Given the description of an element on the screen output the (x, y) to click on. 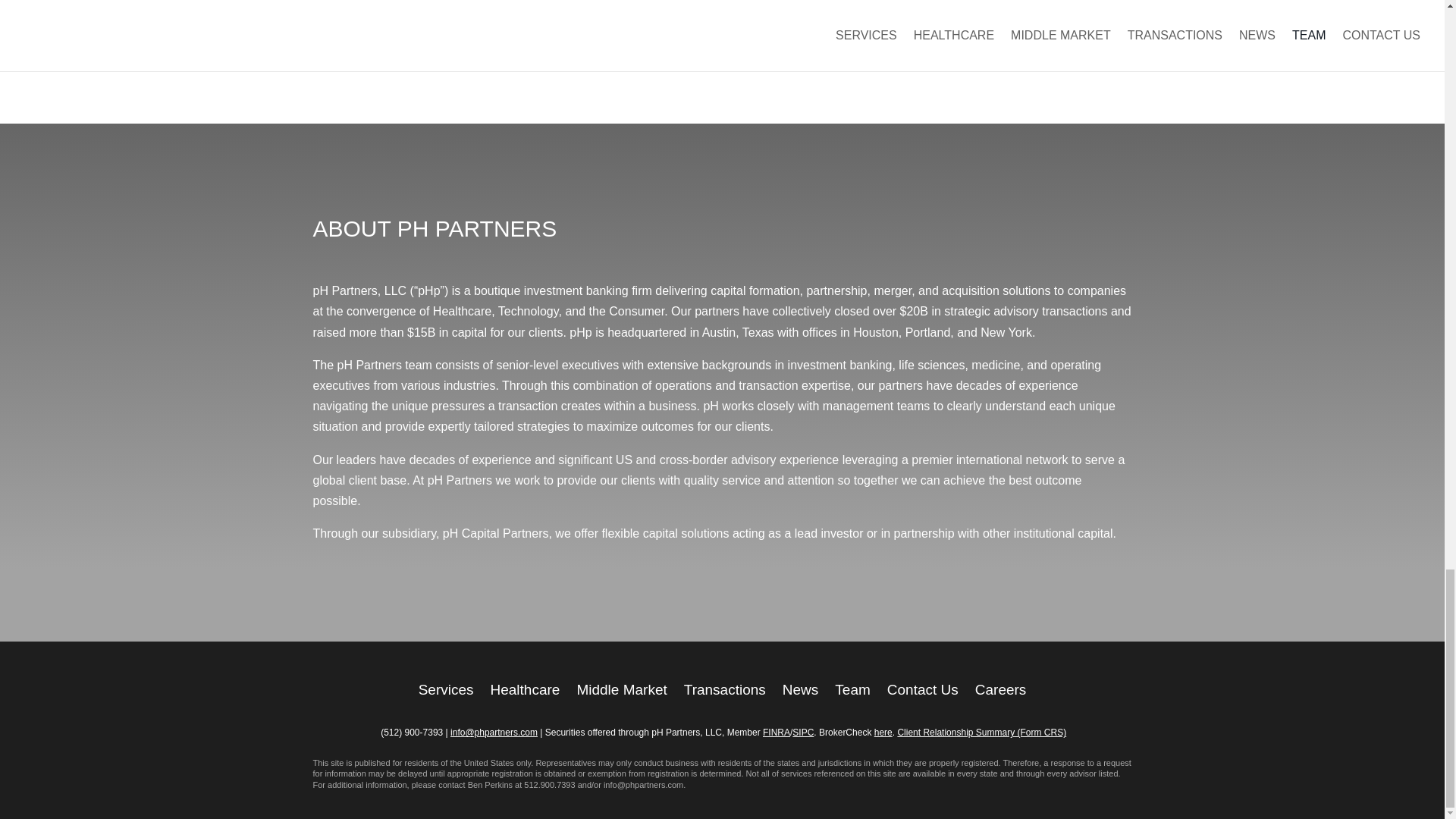
Middle Market (621, 686)
Careers (1000, 686)
Services (446, 686)
Team (851, 686)
Transactions (724, 686)
News (800, 686)
ABOUT (351, 228)
Contact Us (922, 686)
Healthcare (525, 686)
